Given the description of an element on the screen output the (x, y) to click on. 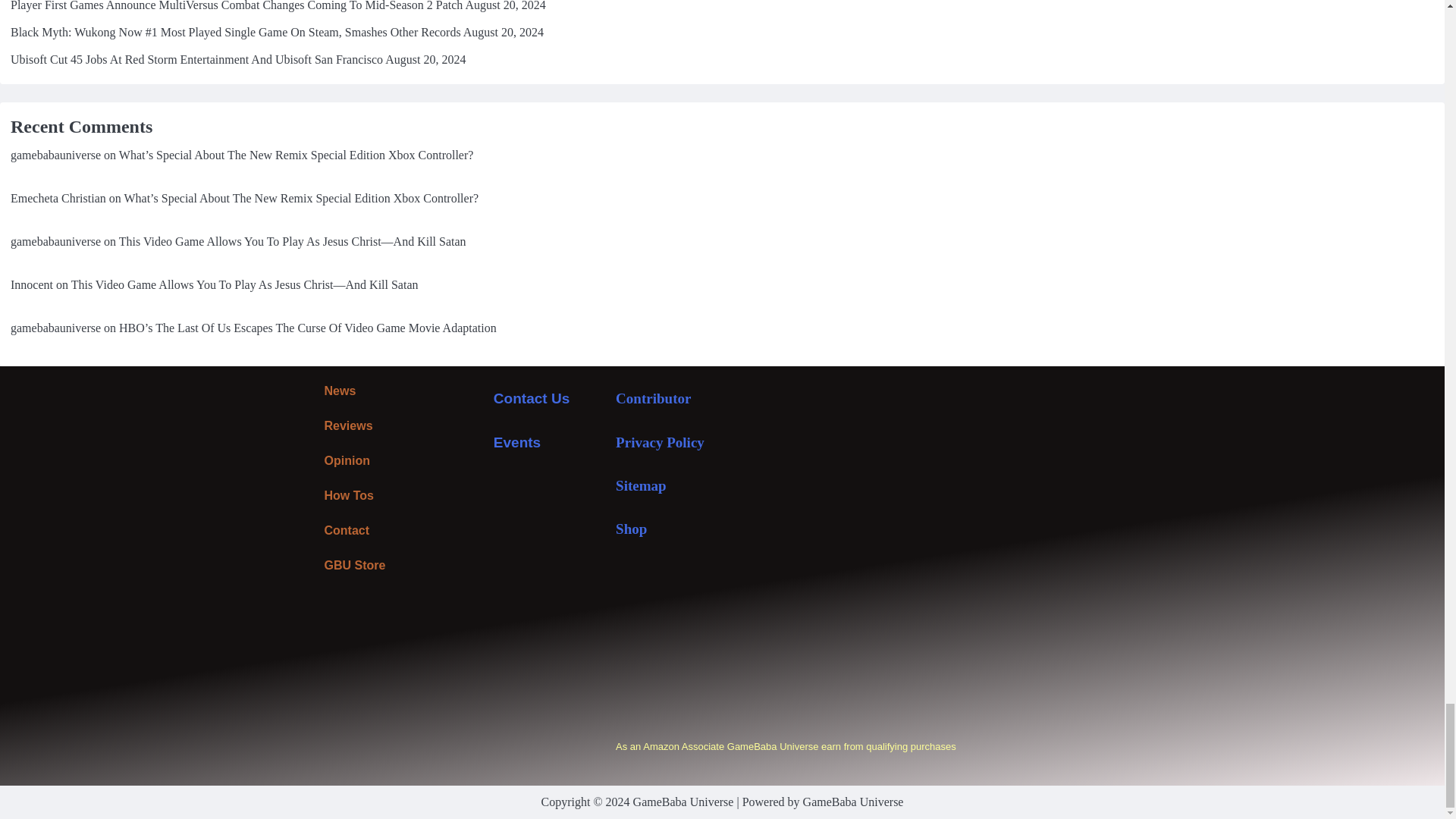
gamebabauniverse (55, 241)
Emecheta Christian (58, 197)
gamebabauniverse (55, 154)
